Given the description of an element on the screen output the (x, y) to click on. 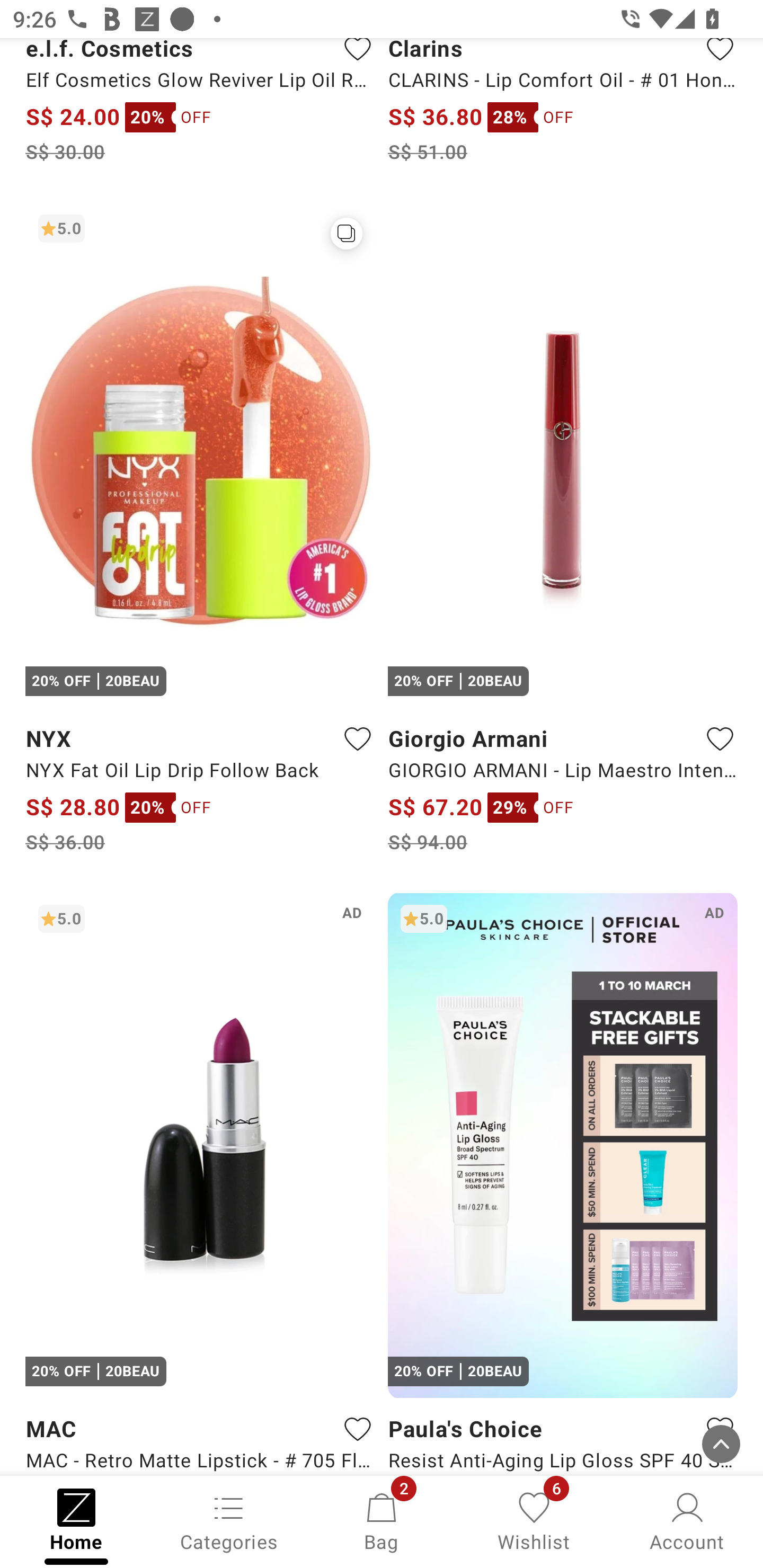
Categories (228, 1519)
Bag, 2 new notifications Bag (381, 1519)
Wishlist, 6 new notifications Wishlist (533, 1519)
Account (686, 1519)
